Given the description of an element on the screen output the (x, y) to click on. 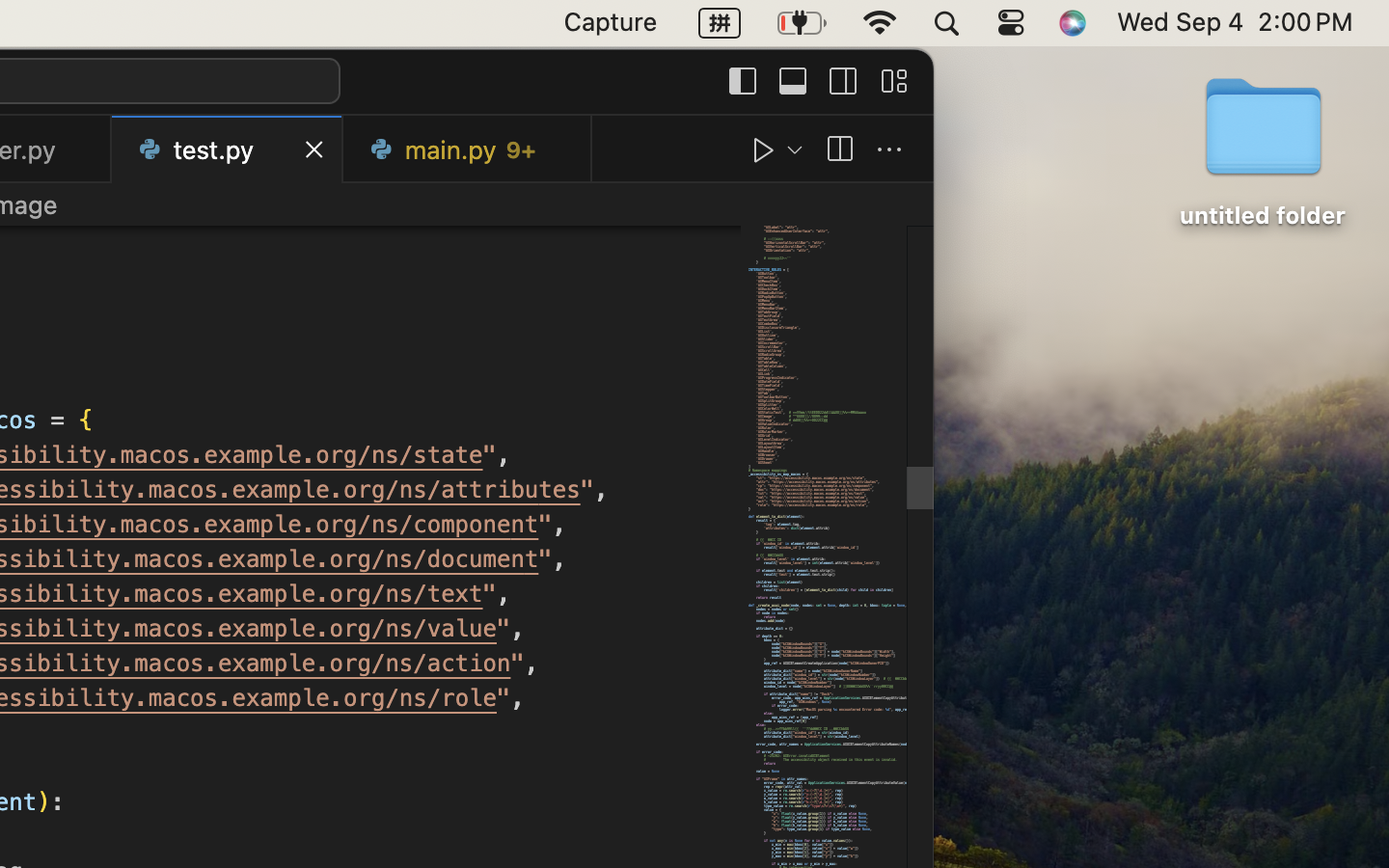
1 test.py   Element type: AXRadioButton (227, 149)
0 main.py   9+ Element type: AXRadioButton (467, 149)
 Element type: AXGroup (763, 150)
 Element type: AXButton (838, 150)
